Given the description of an element on the screen output the (x, y) to click on. 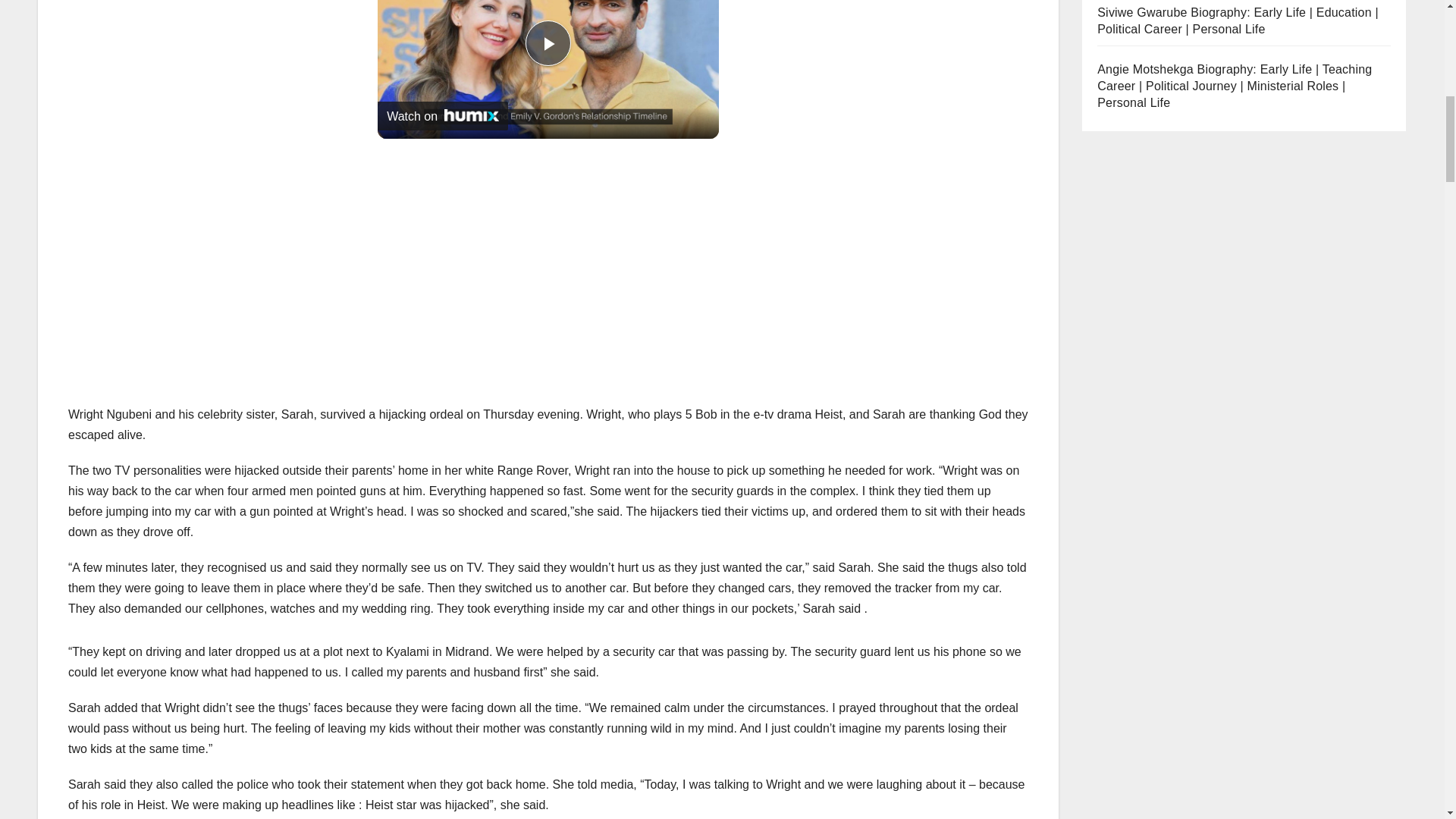
Play Video (547, 43)
Watch on (442, 115)
Play Video (547, 43)
